Given the description of an element on the screen output the (x, y) to click on. 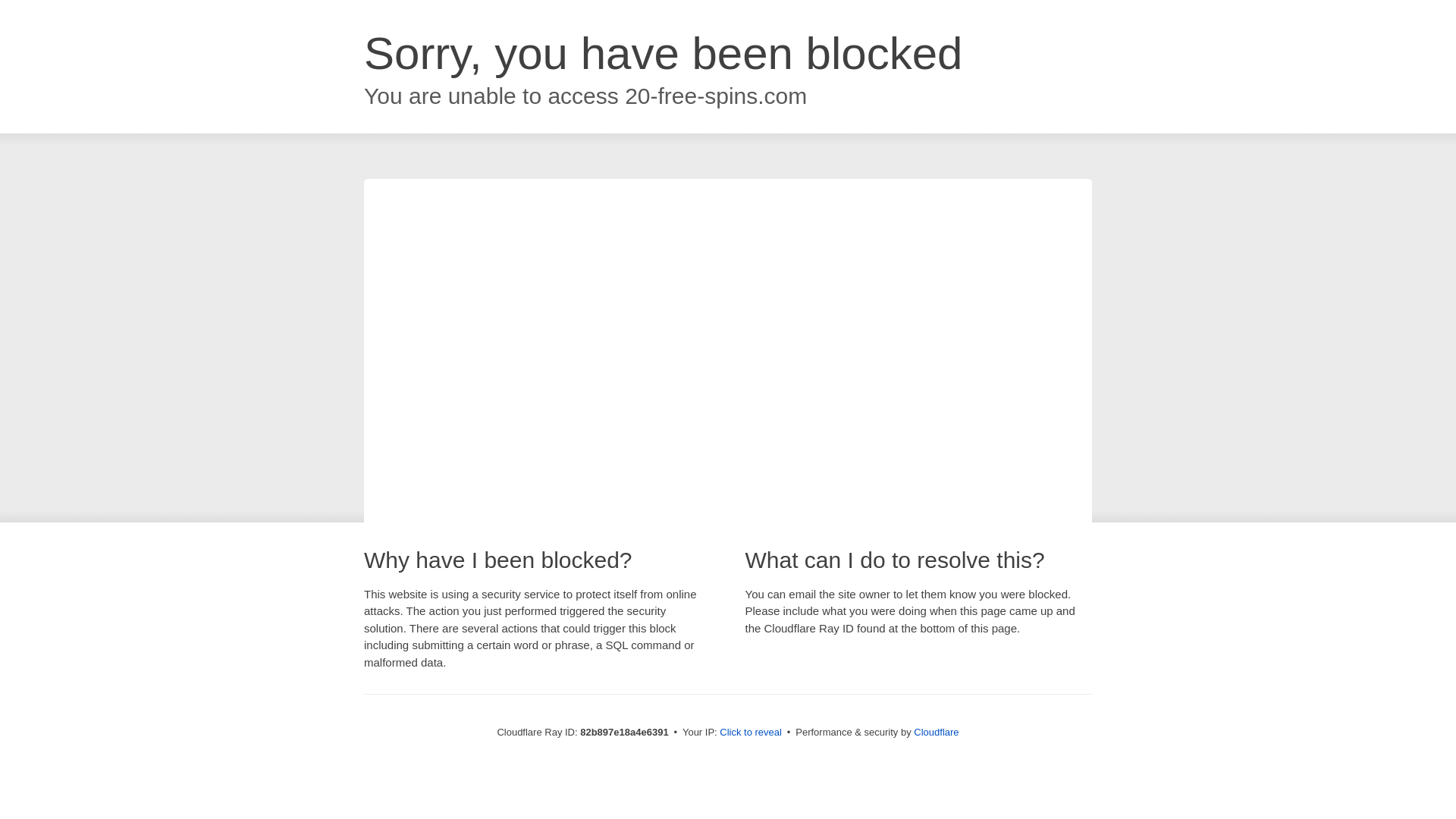
Click to reveal Element type: text (750, 732)
Cloudflare Element type: text (935, 731)
